Given the description of an element on the screen output the (x, y) to click on. 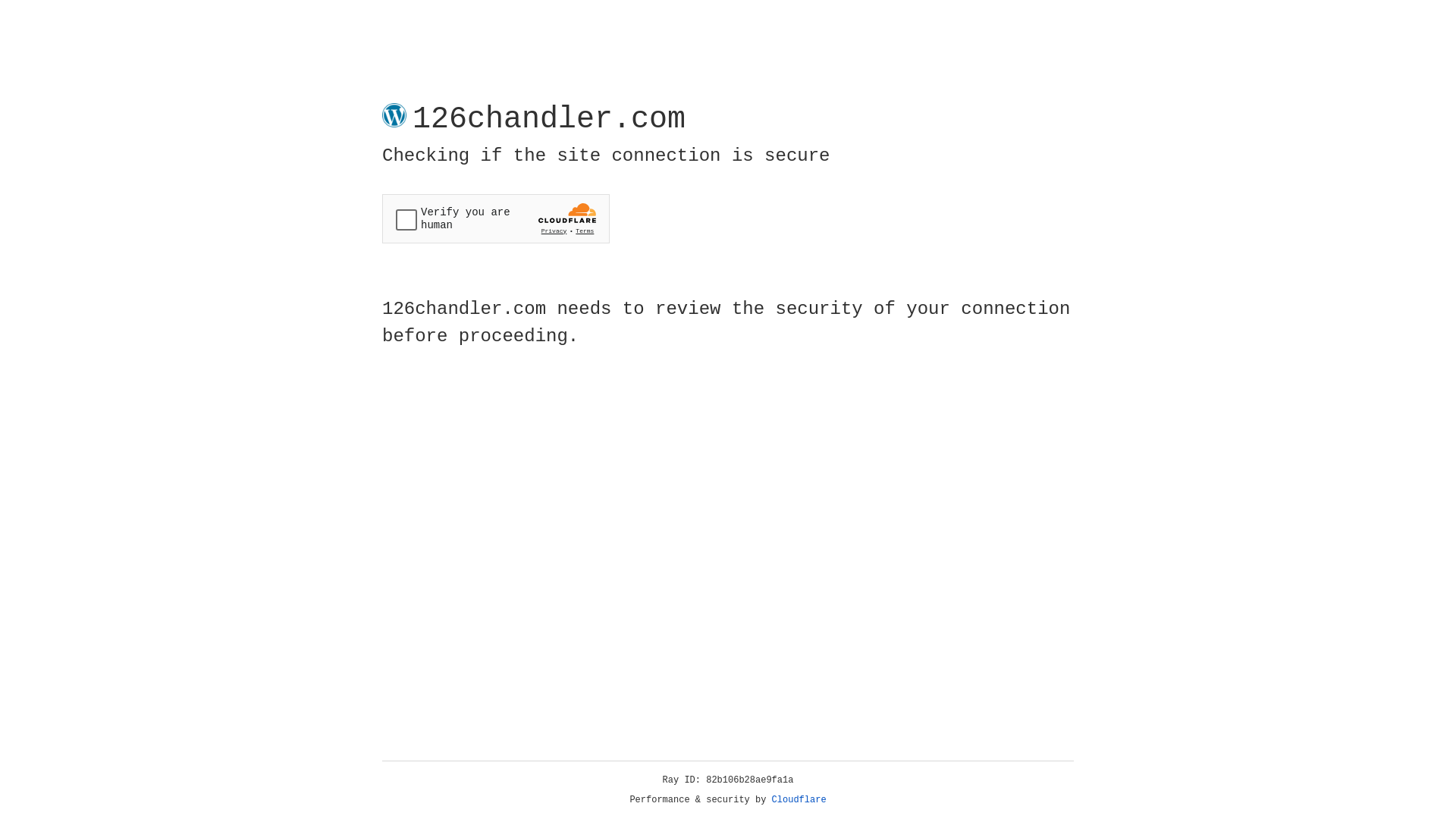
Cloudflare Element type: text (798, 799)
Widget containing a Cloudflare security challenge Element type: hover (495, 218)
